Given the description of an element on the screen output the (x, y) to click on. 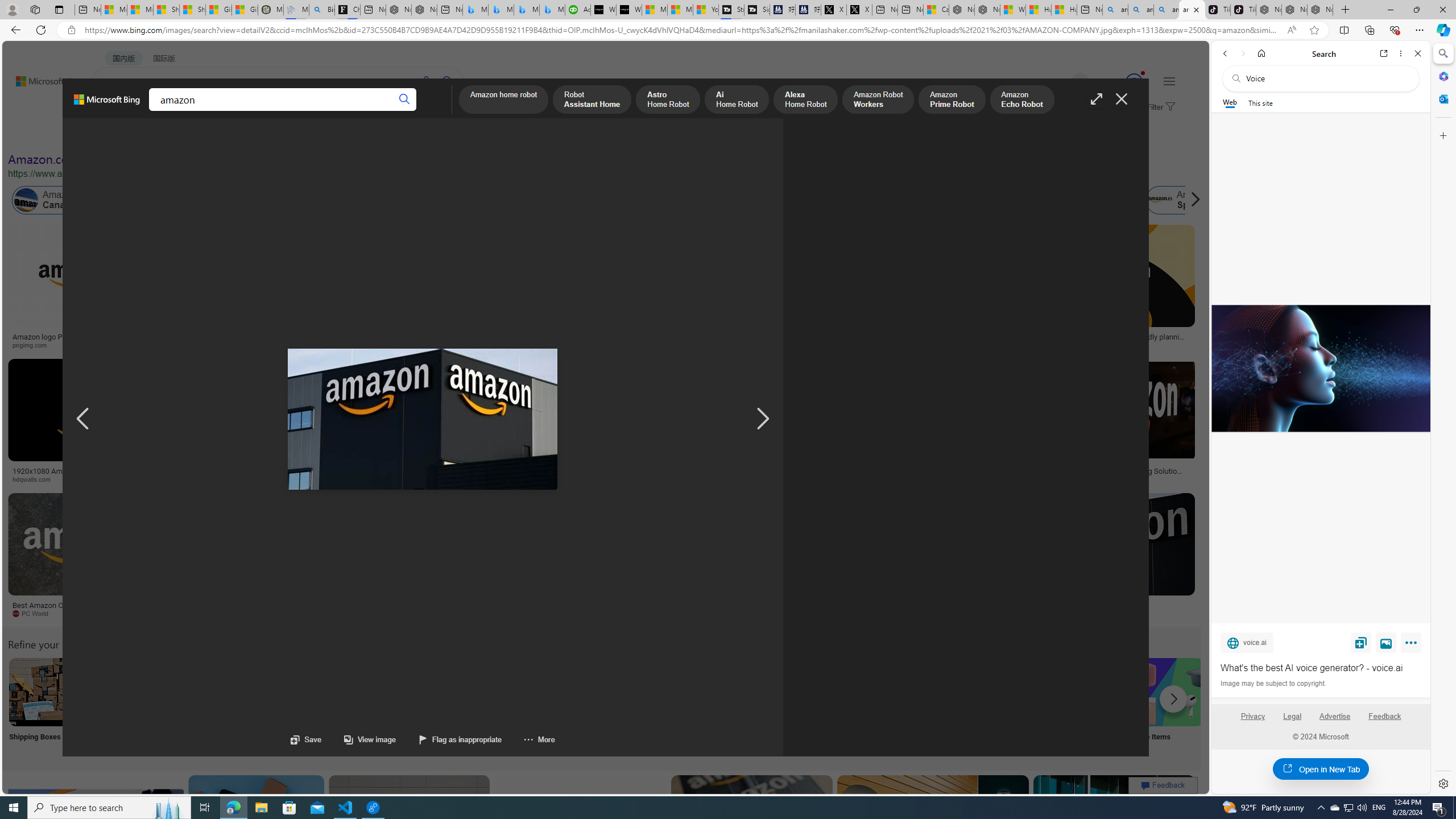
Nordace - #1 Japanese Best-Seller - Siena Smart Backpack (424, 9)
Amazon Prime Online (137, 200)
Amazon India (483, 200)
IMAGES (156, 111)
Amazon Package Delivery (418, 691)
Amazon Sale Items Sale Items (1169, 706)
Amazon Retail Store (493, 691)
Browser essentials (1394, 29)
Amazon Clip Art Clip Art (192, 706)
The Verge (237, 613)
Collections (208, 111)
More (1413, 644)
Nordace - Best Sellers (1268, 9)
